Given the description of an element on the screen output the (x, y) to click on. 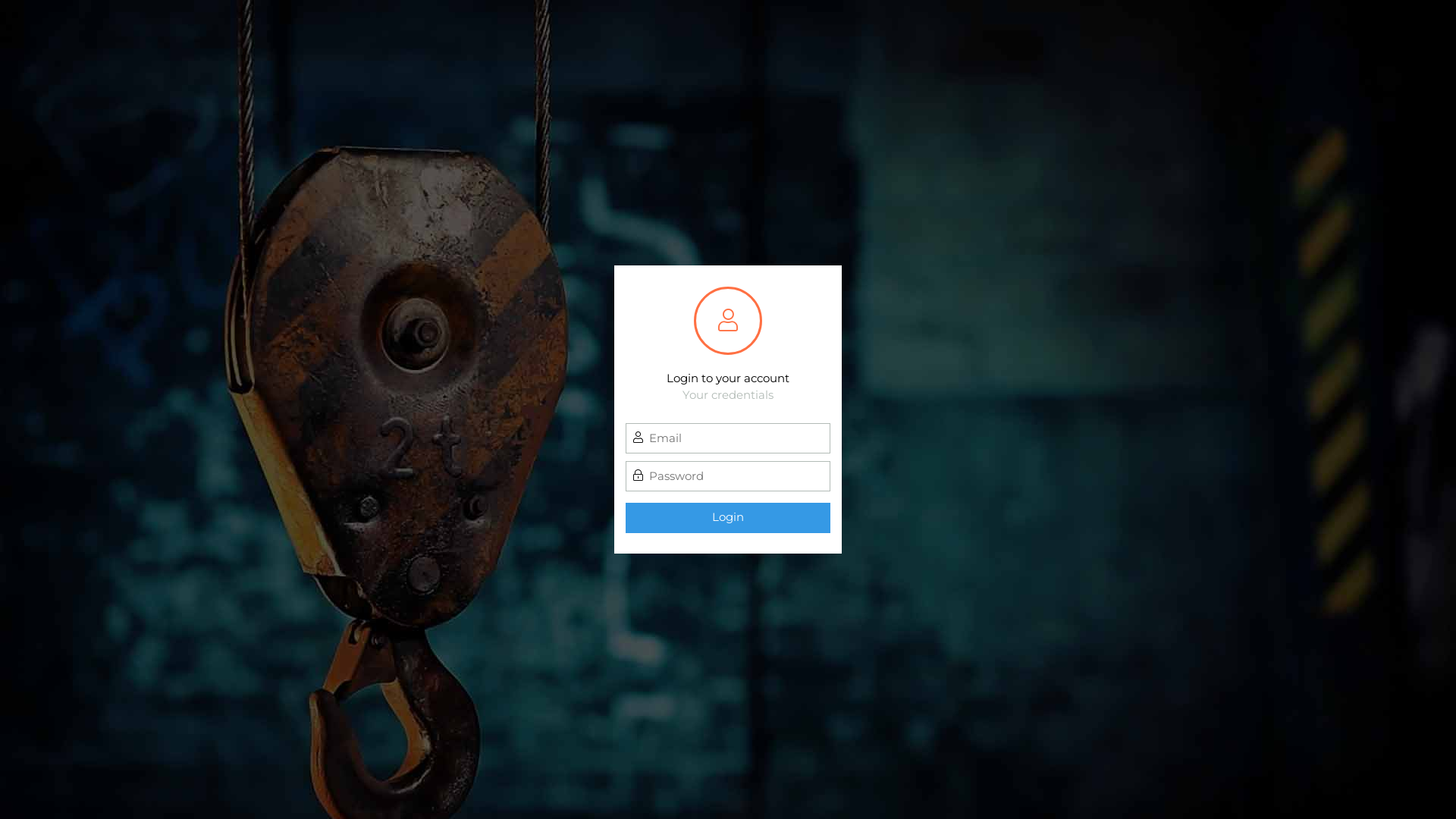
Login Element type: text (727, 517)
